Given the description of an element on the screen output the (x, y) to click on. 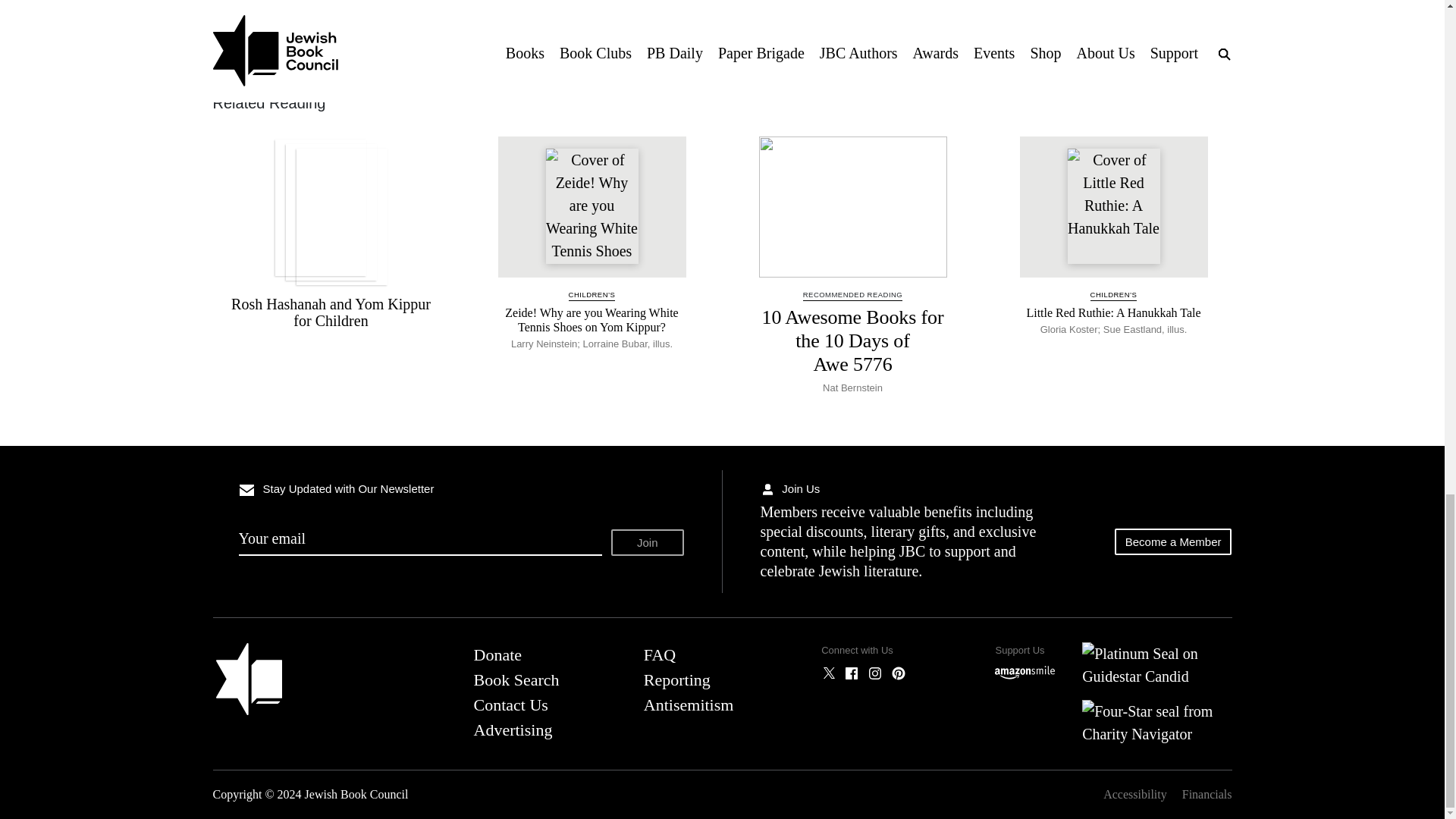
Join (647, 542)
